Given the description of an element on the screen output the (x, y) to click on. 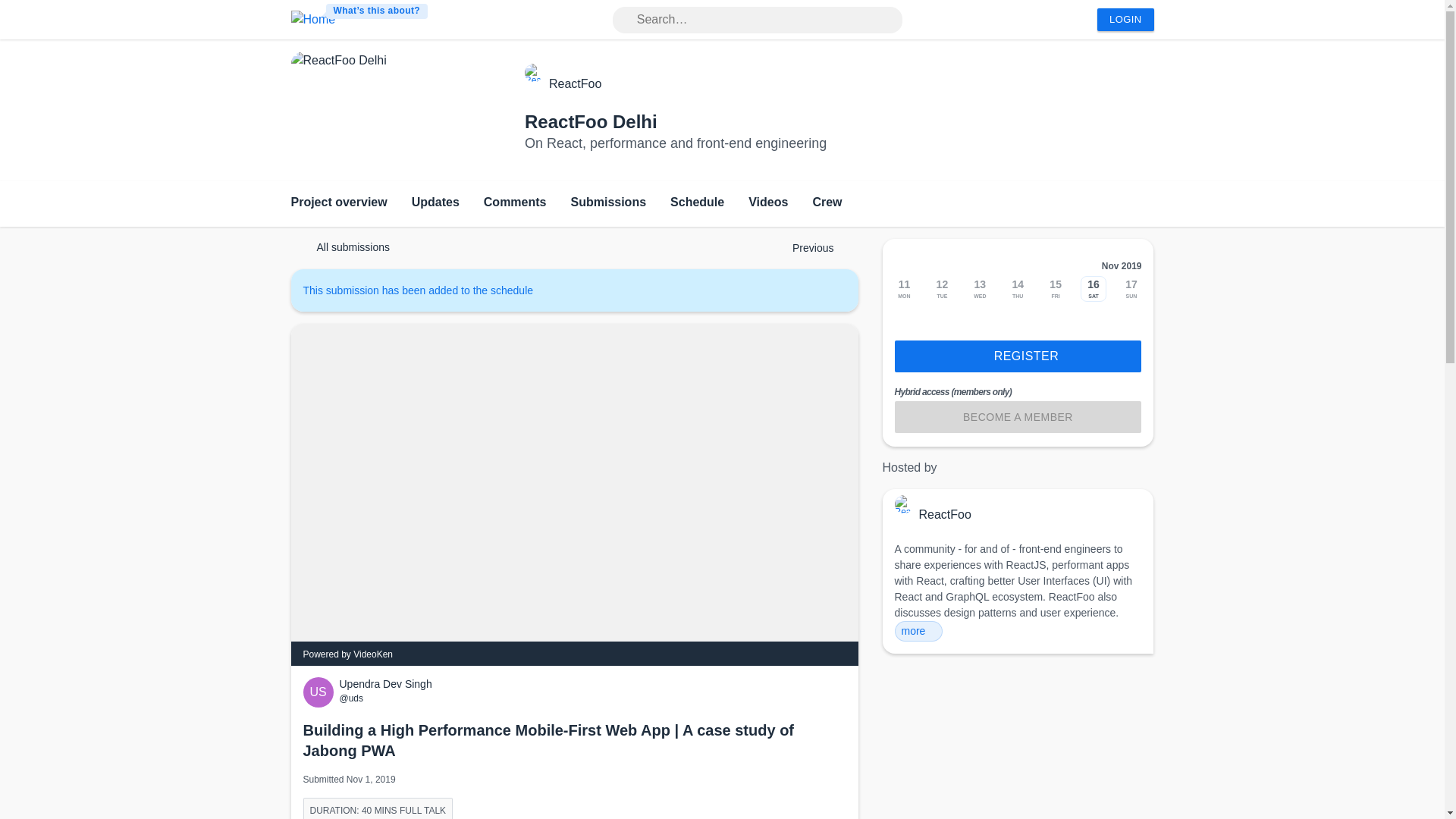
Powered by VideoKen (347, 654)
LOGIN (1125, 19)
Comments (515, 203)
US (320, 692)
ReactFoo Delhi (591, 121)
Previous (804, 247)
This submission has been added to the schedule (425, 290)
Submissions (608, 203)
ReactFoo (574, 83)
Schedule (696, 203)
